Given the description of an element on the screen output the (x, y) to click on. 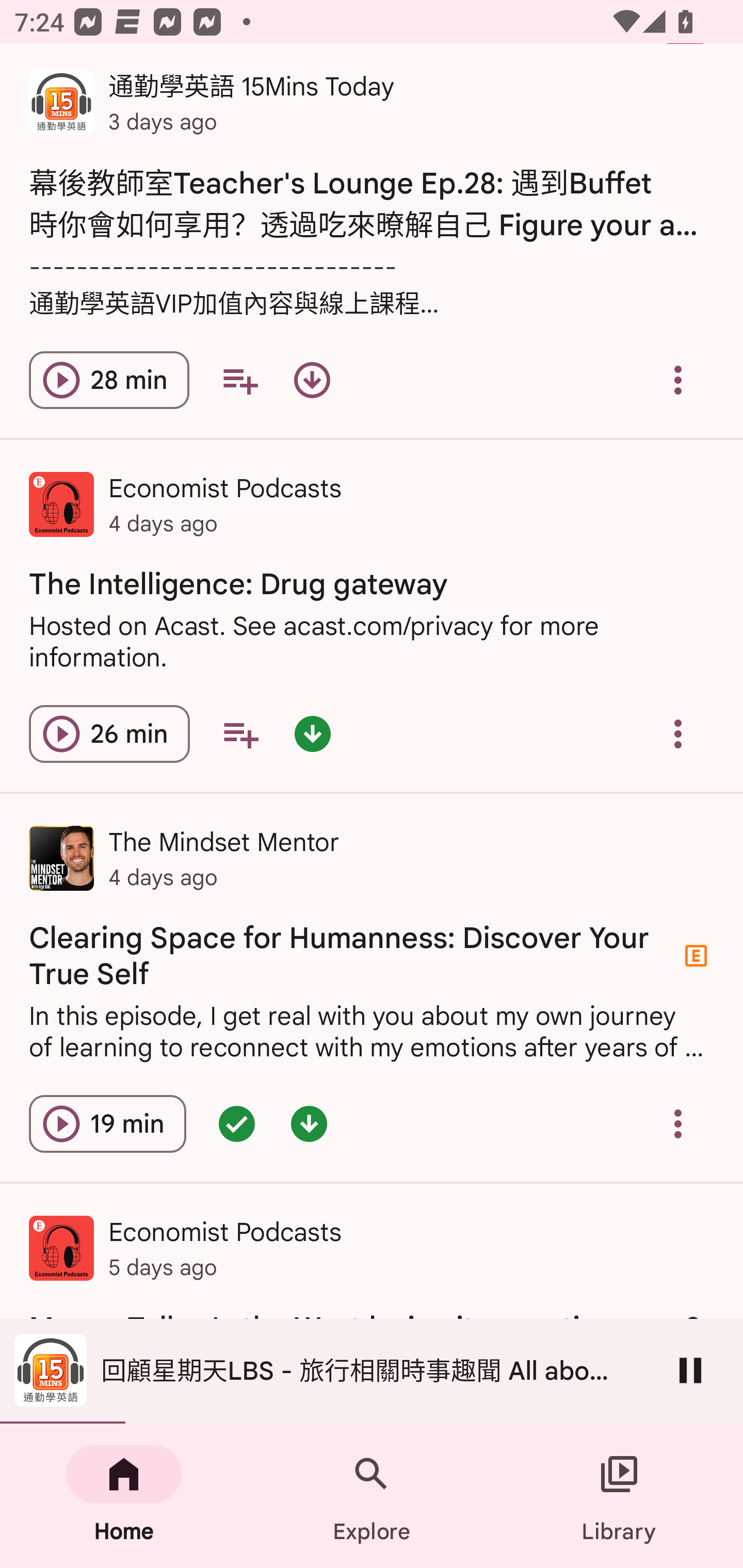
Add to your queue (239, 380)
Download episode (312, 380)
Overflow menu (677, 380)
Play episode The Intelligence: Drug gateway 26 min (109, 733)
Add to your queue (240, 733)
Episode downloaded - double tap for options (312, 733)
Overflow menu (677, 733)
Episode queued - double tap for options (236, 1123)
Episode downloaded - double tap for options (308, 1123)
Overflow menu (677, 1123)
Pause (690, 1370)
Explore (371, 1495)
Library (619, 1495)
